Given the description of an element on the screen output the (x, y) to click on. 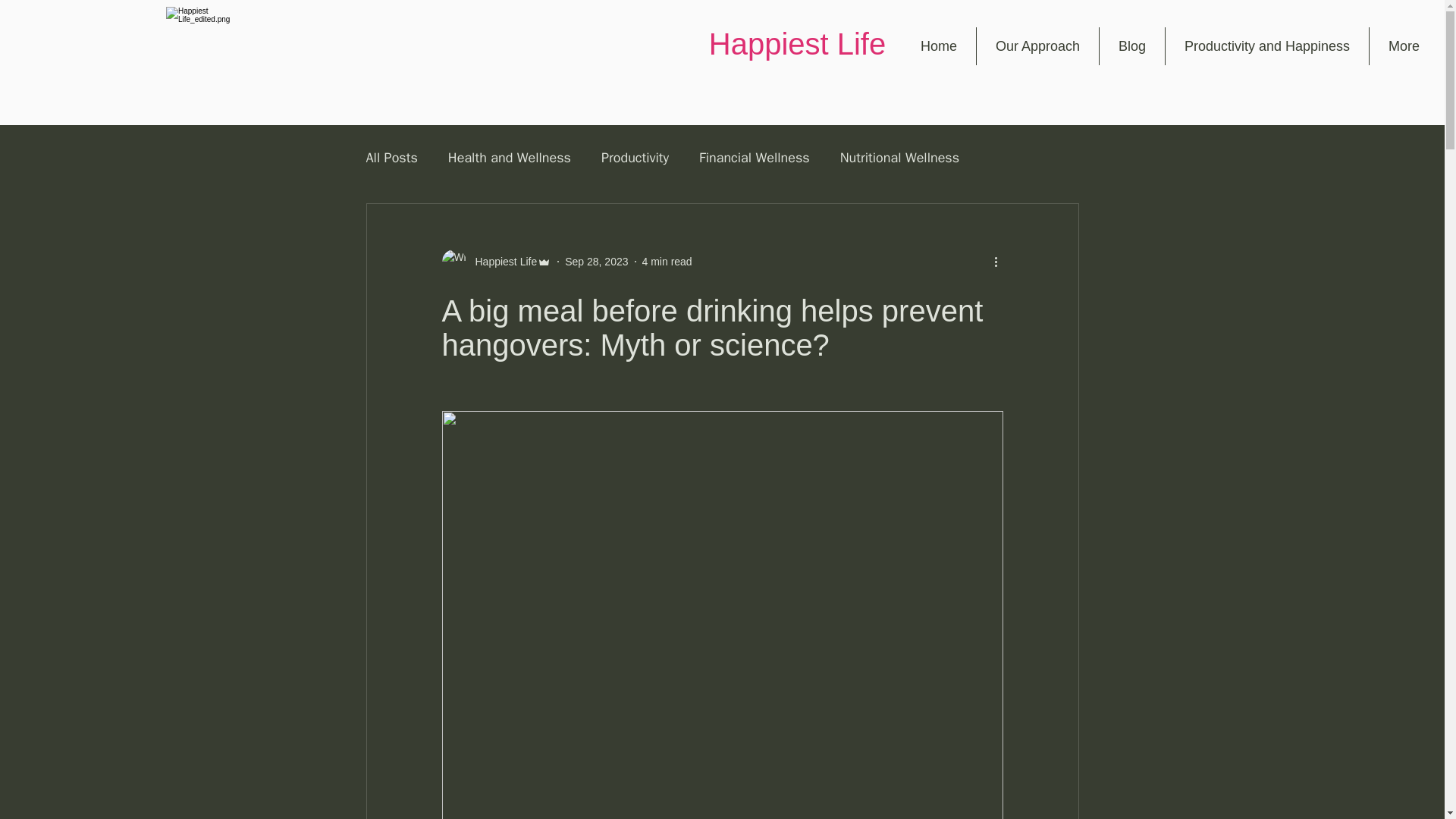
Health and Wellness (509, 157)
Happiest Life (496, 261)
Nutritional Wellness (899, 157)
Our Approach (1037, 46)
Blog (1131, 46)
All Posts (390, 157)
Productivity and Happiness (1267, 46)
Sep 28, 2023 (595, 260)
Happiest Life (501, 261)
Financial Wellness (753, 157)
